Given the description of an element on the screen output the (x, y) to click on. 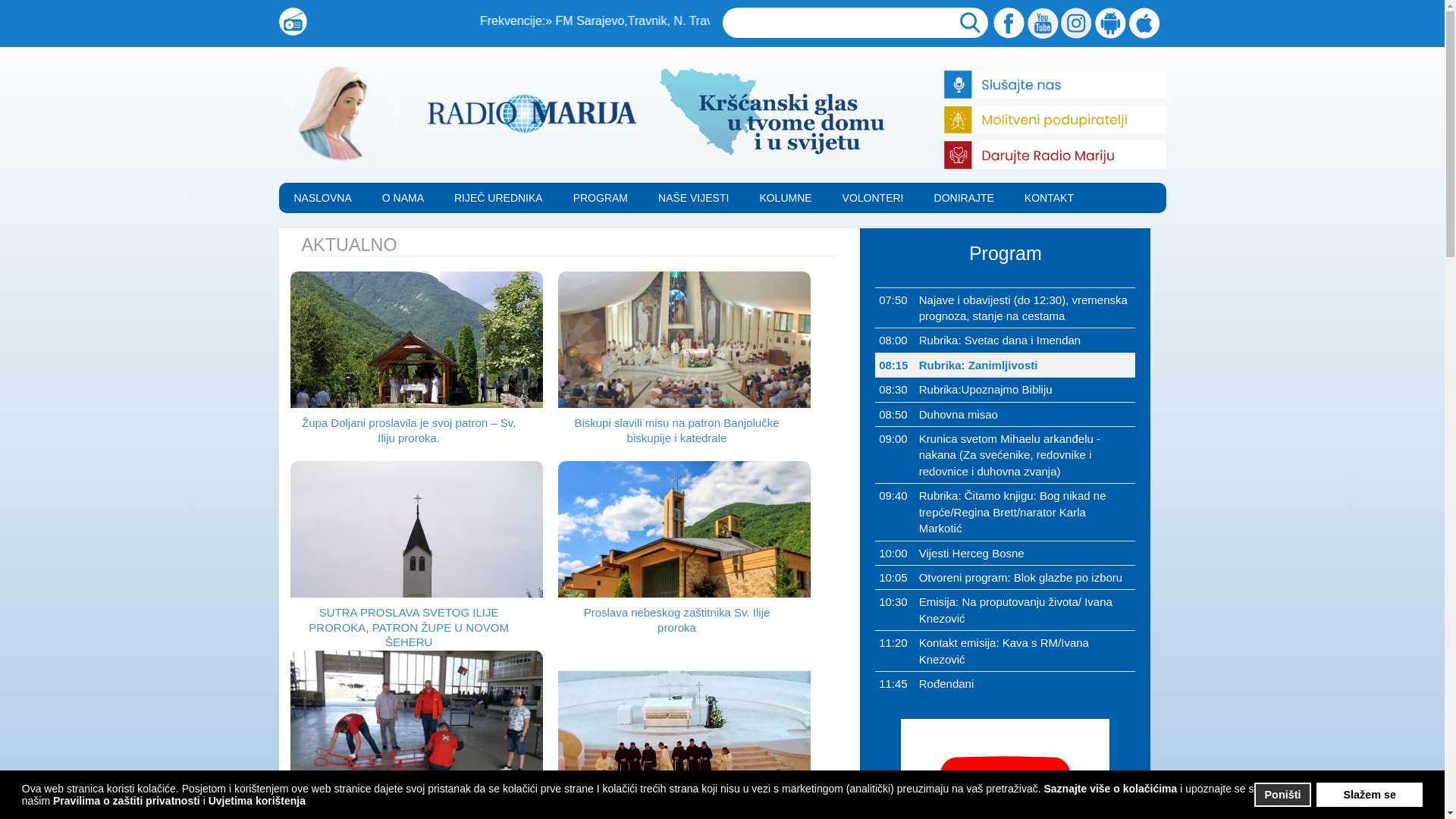
O NAMA Element type: text (403, 197)
VOLONTERI Element type: text (873, 197)
PROGRAM Element type: text (600, 197)
KONTAKT Element type: text (1048, 197)
KOLUMNE Element type: text (784, 197)
DONIRAJTE Element type: text (964, 197)
NASLOVNA Element type: text (323, 197)
